Given the description of an element on the screen output the (x, y) to click on. 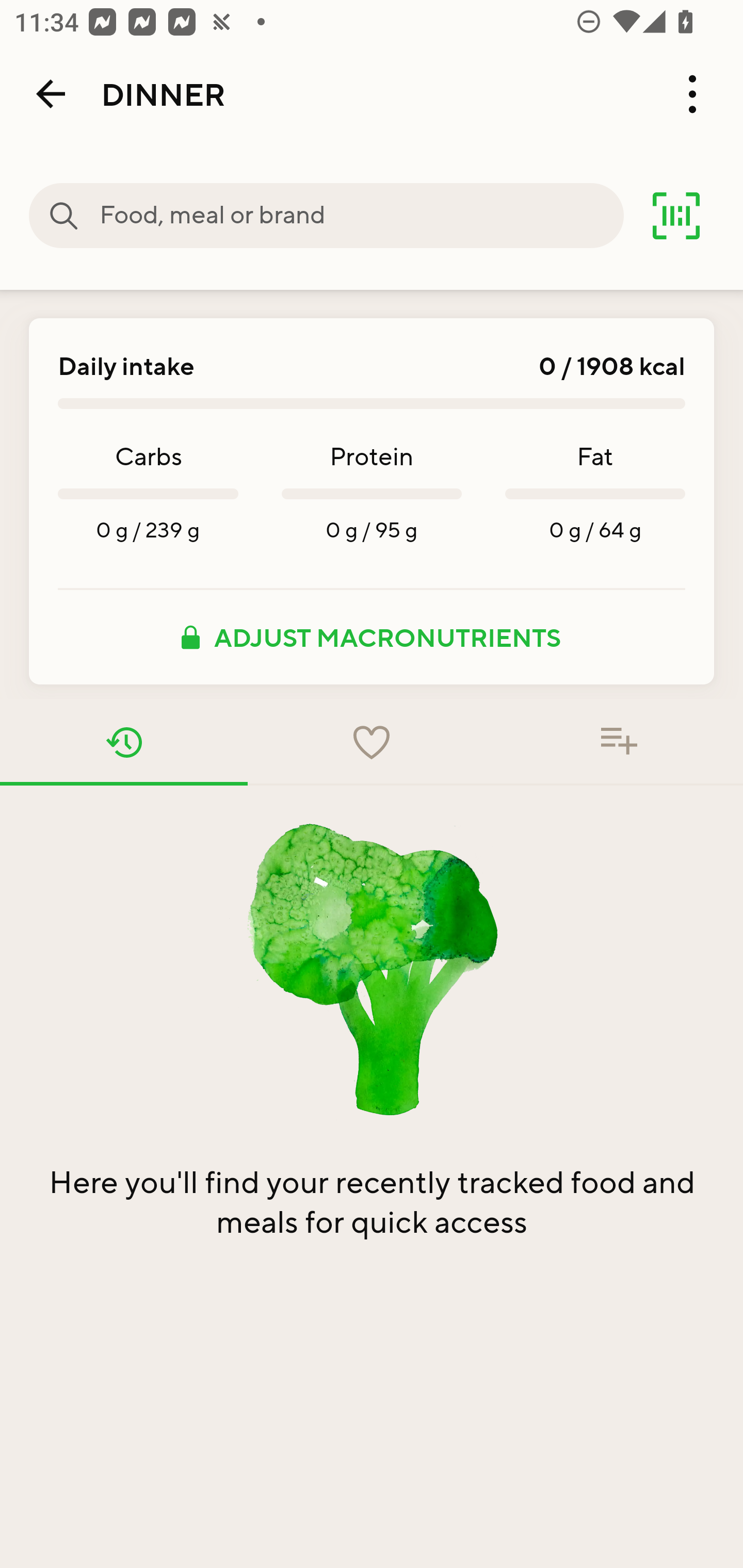
Back (50, 93)
Food, meal or brand (63, 215)
Food, meal or brand (361, 215)
ADJUST MACRONUTRIENTS (371, 637)
Favorites (371, 742)
Food added (619, 742)
